Given the description of an element on the screen output the (x, y) to click on. 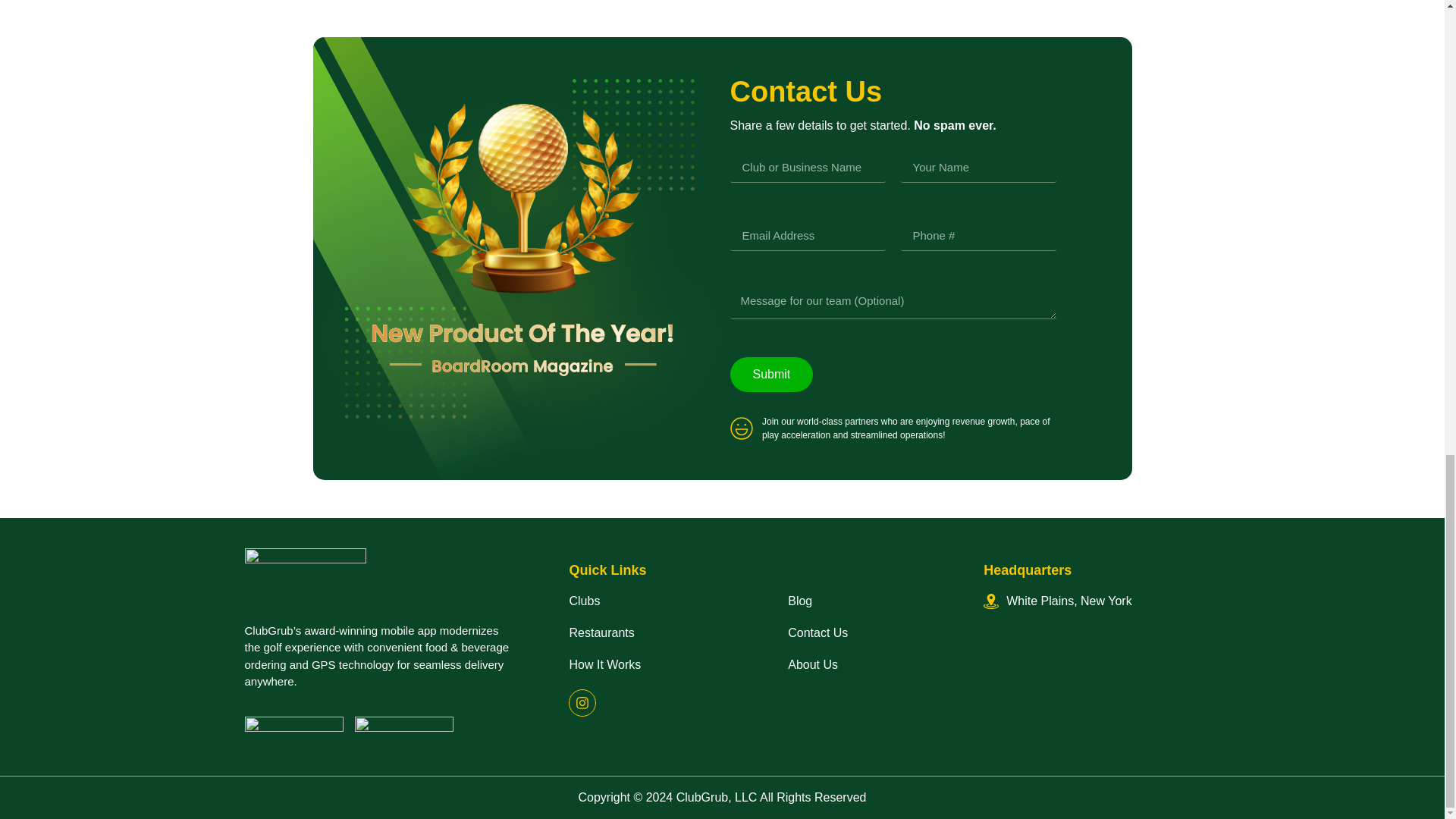
Contact Us (870, 633)
Clubs (663, 601)
How It Works (663, 665)
Submit (770, 374)
Blog (870, 601)
Restaurants (663, 633)
About Us (870, 665)
